Given the description of an element on the screen output the (x, y) to click on. 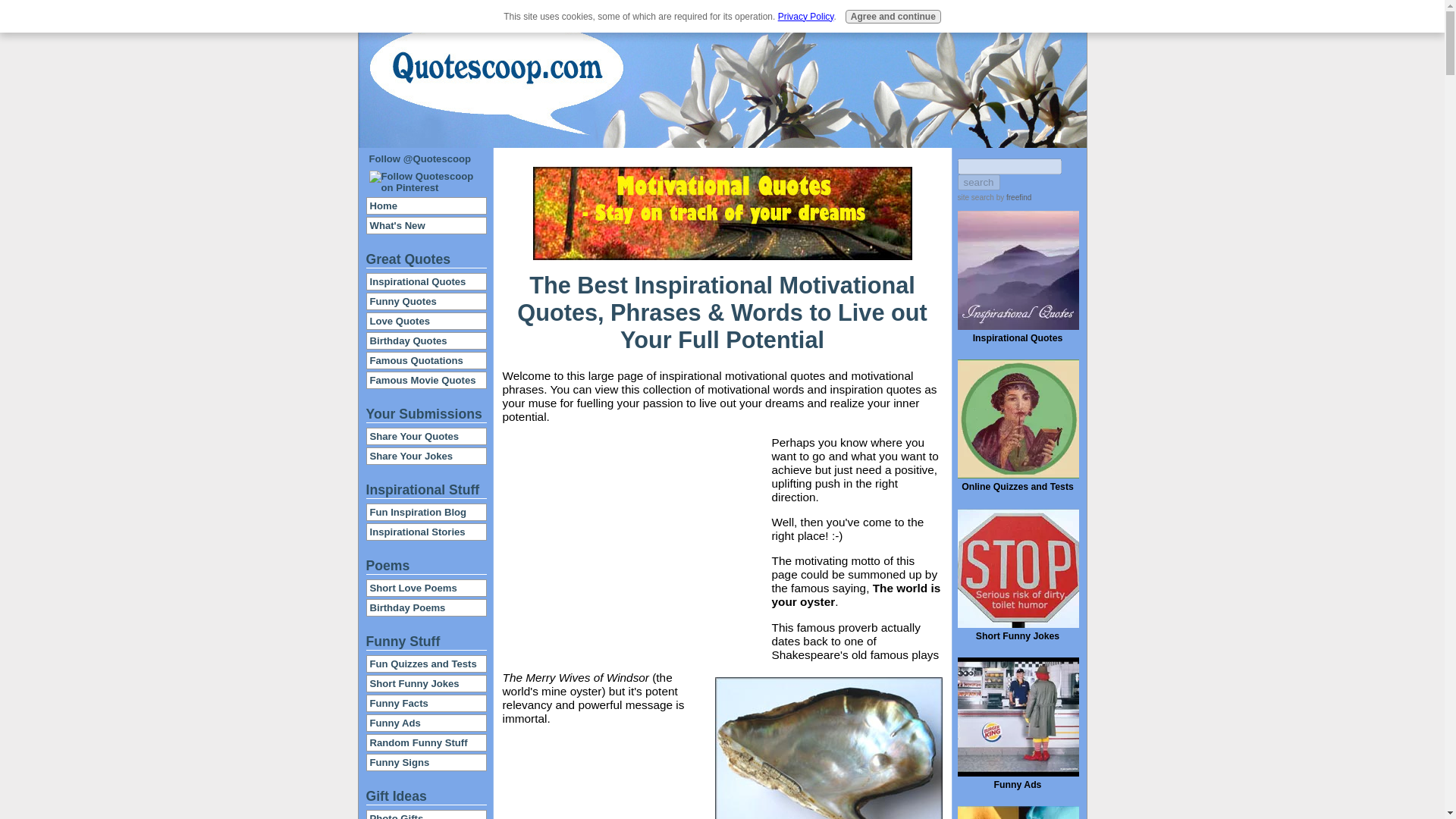
Photo of oyster with a little pearl inside. (828, 748)
Funny Ads (741, 12)
What's New (426, 225)
Birthday Quotes (426, 340)
Famous Quotations (426, 360)
Share Your Jokes (426, 455)
Famous Movie Quotes (426, 380)
Share Your Quotes (426, 436)
Inspirational Quotes (426, 281)
Funny Quotes (426, 301)
